Given the description of an element on the screen output the (x, y) to click on. 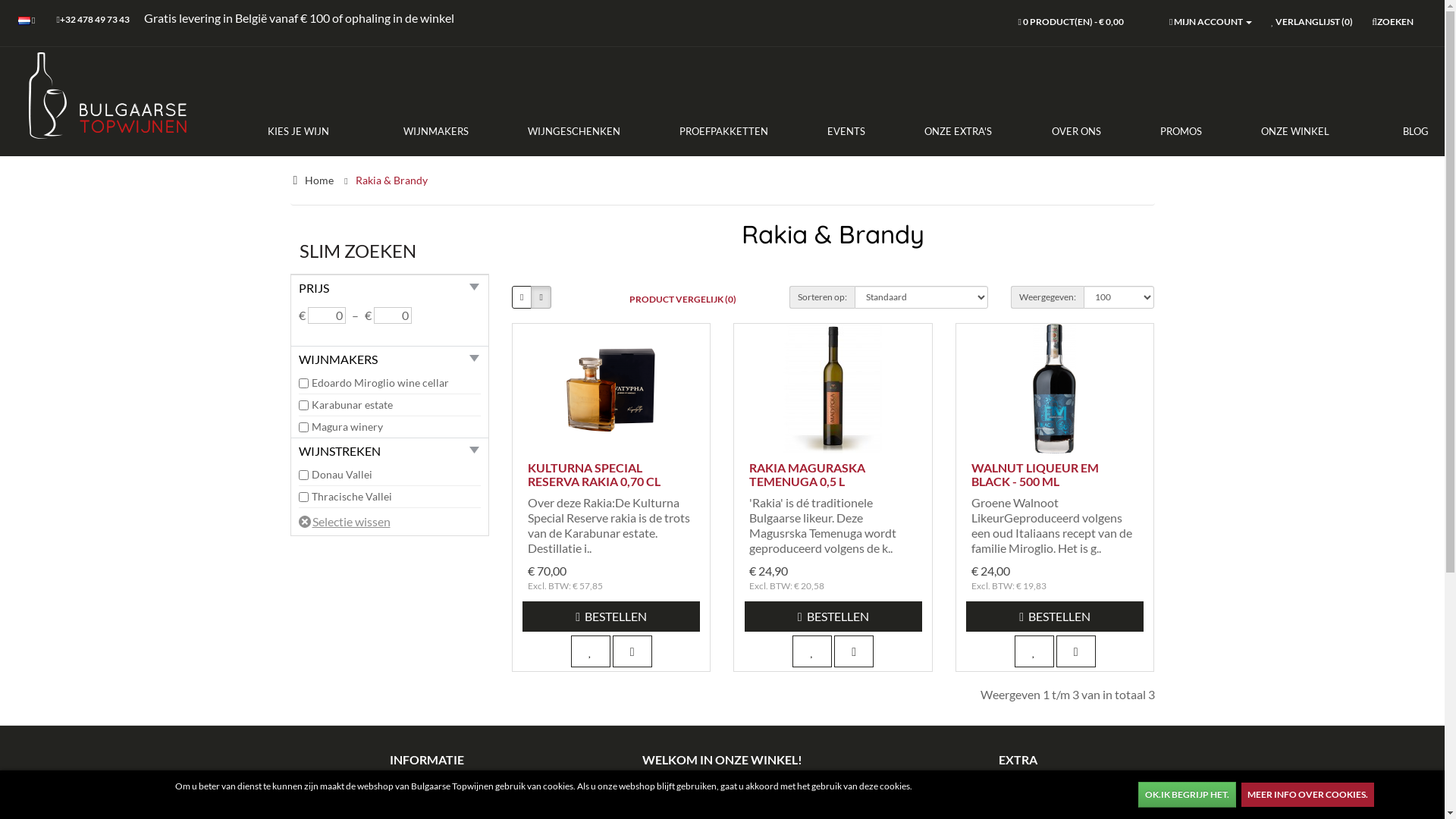
  BESTELLEN Element type: text (1054, 616)
BLOG Element type: text (1400, 131)
Nieuwsbrief Element type: text (426, 797)
Selectie wissen Element type: text (344, 521)
KULTURNA SPECIAL RESERVA RAKIA 0,70 CL Element type: text (593, 474)
OVER ONS Element type: text (1075, 131)
PROEFPAKKETTEN Element type: text (723, 131)
MIJN ACCOUNT Element type: text (1210, 22)
Kulturna Special Reserva Rakia 0,70 cl Element type: hover (610, 388)
Walnut Liqueur EM Black - 500 ml Element type: hover (1054, 388)
WIJNMAKERS Element type: text (435, 131)
KIES JE WIJN Element type: text (312, 131)
Rakia & Brandy Element type: text (390, 179)
Home Element type: text (318, 179)
PRODUCT VERGELIJK (0) Element type: text (682, 298)
Cadeaubon Element type: text (1017, 797)
ONZE EXTRA'S Element type: text (957, 131)
Nederlands Element type: hover (24, 20)
Bulgaarse Topwijnen Element type: hover (105, 97)
MEER INFO OVER COOKIES. Element type: text (1307, 794)
RAKIA MAGURASKA TEMENUGA 0,5 L Element type: text (807, 474)
WIJNGESCHENKEN Element type: text (573, 131)
OK.Ik begrijp het. Element type: text (1187, 794)
ONZE WINKEL Element type: text (1294, 131)
ZOEKEN Element type: text (1392, 22)
+32 478 49 73 43 Element type: text (92, 20)
  BESTELLEN Element type: text (833, 616)
WALNUT LIQUEUR EM BLACK - 500 ML Element type: text (1034, 474)
  BESTELLEN Element type: text (610, 616)
EVENTS Element type: text (845, 131)
Apply Element type: text (20, 12)
PROMOS Element type: text (1180, 131)
VERLANGLIJST (0) Element type: text (1311, 22)
Rakia Maguraska Temenuga 0,5 l Element type: hover (832, 388)
